Given the description of an element on the screen output the (x, y) to click on. 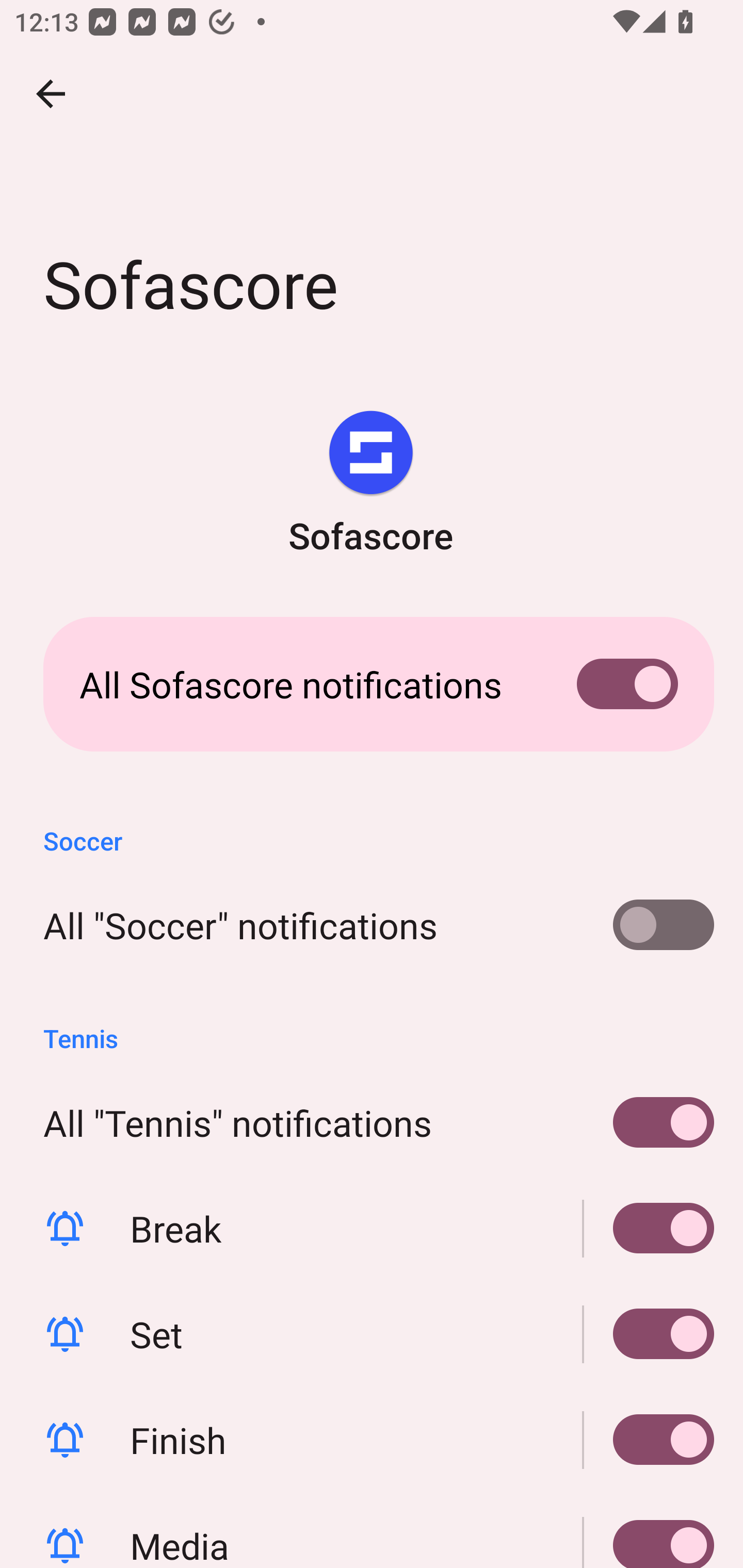
Navigate up (50, 93)
Sofascore (370, 484)
All Sofascore notifications (371, 684)
All "Soccer" notifications (371, 924)
All "Tennis" notifications (371, 1122)
Break (371, 1228)
Break (648, 1228)
Set (371, 1334)
Set (648, 1334)
Finish (371, 1439)
Finish (648, 1439)
Media (371, 1530)
Media (648, 1530)
